Given the description of an element on the screen output the (x, y) to click on. 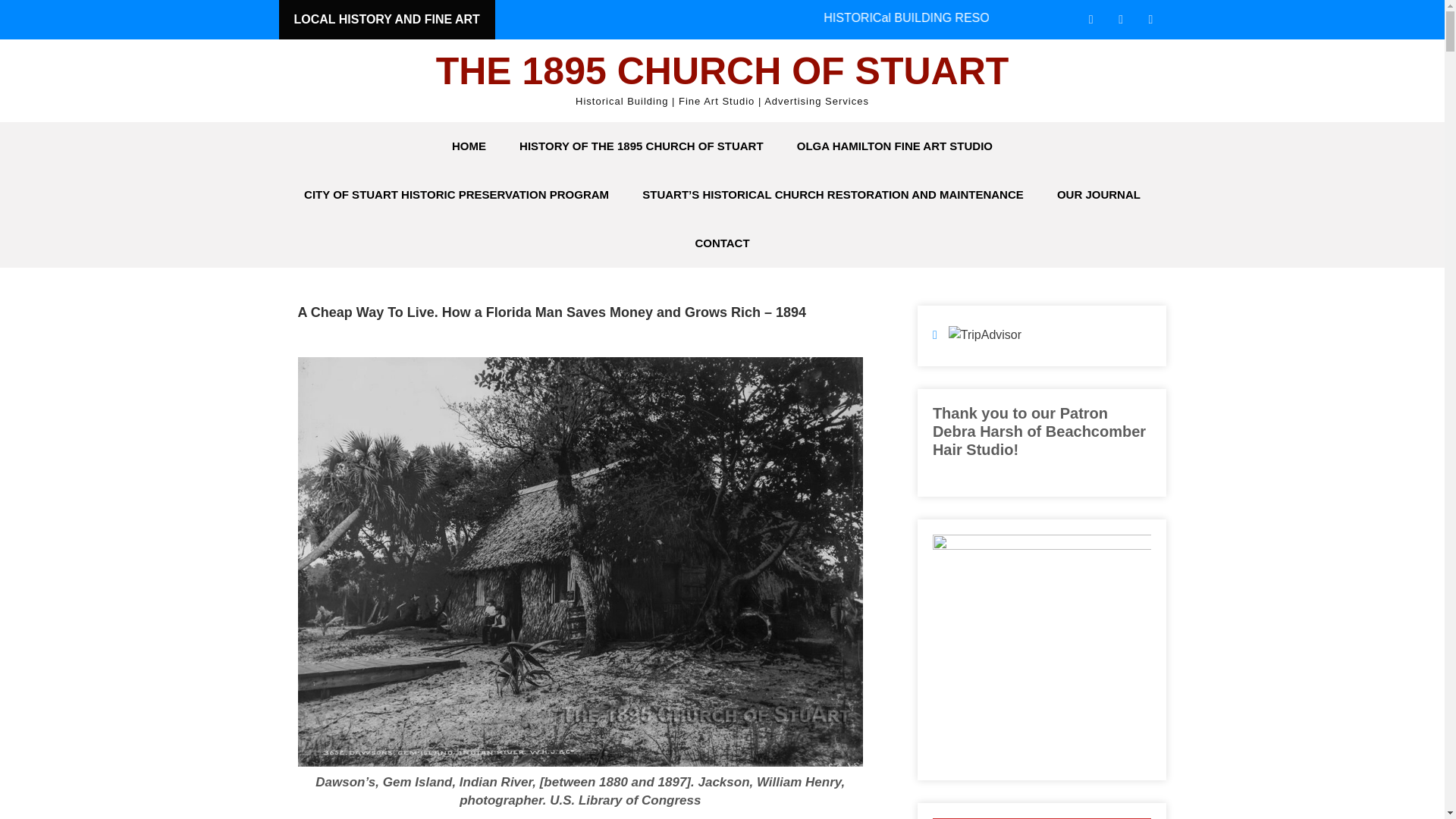
CONTACT (721, 243)
CITY OF STUART HISTORIC PRESERVATION PROGRAM (456, 194)
THE 1895 CHURCH OF STUART (722, 70)
OLGA HAMILTON FINE ART STUDIO (894, 146)
HOME (468, 146)
HISTORY OF THE 1895 CHURCH OF STUART (640, 146)
OUR JOURNAL (1099, 194)
